Given the description of an element on the screen output the (x, y) to click on. 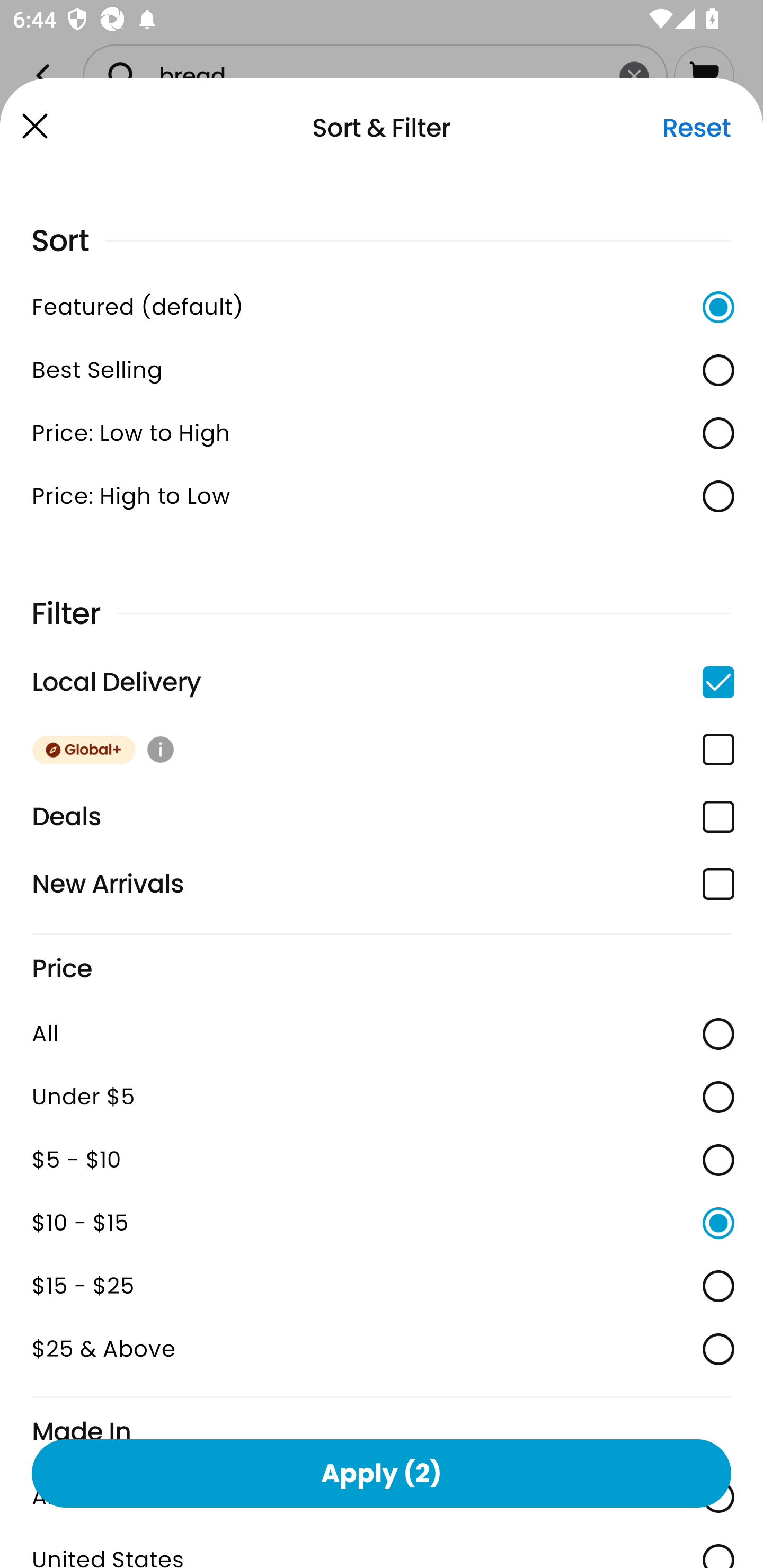
Reset (696, 127)
Apply (2) (381, 1472)
